Given the description of an element on the screen output the (x, y) to click on. 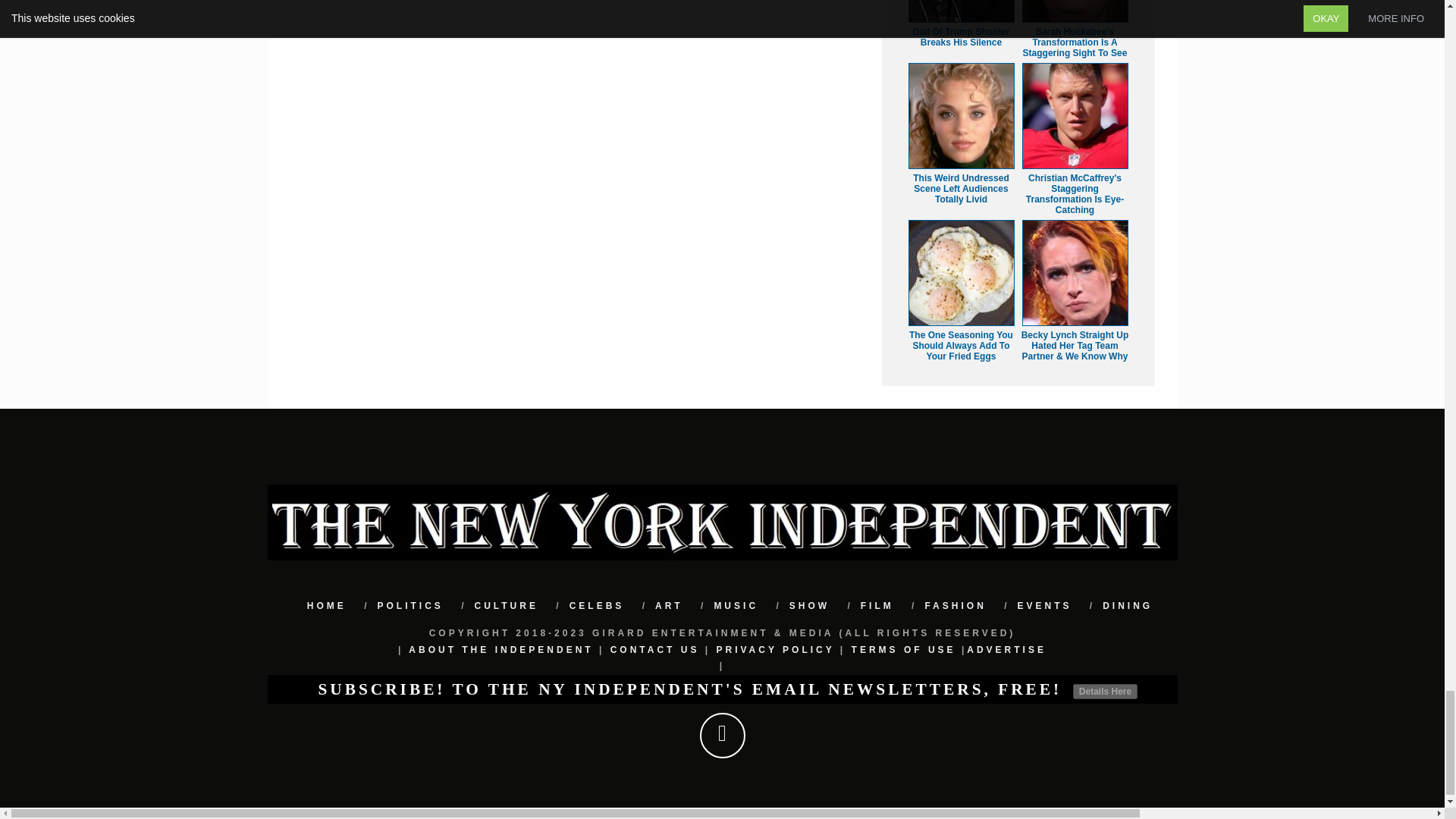
Details Here (1105, 691)
